Given the description of an element on the screen output the (x, y) to click on. 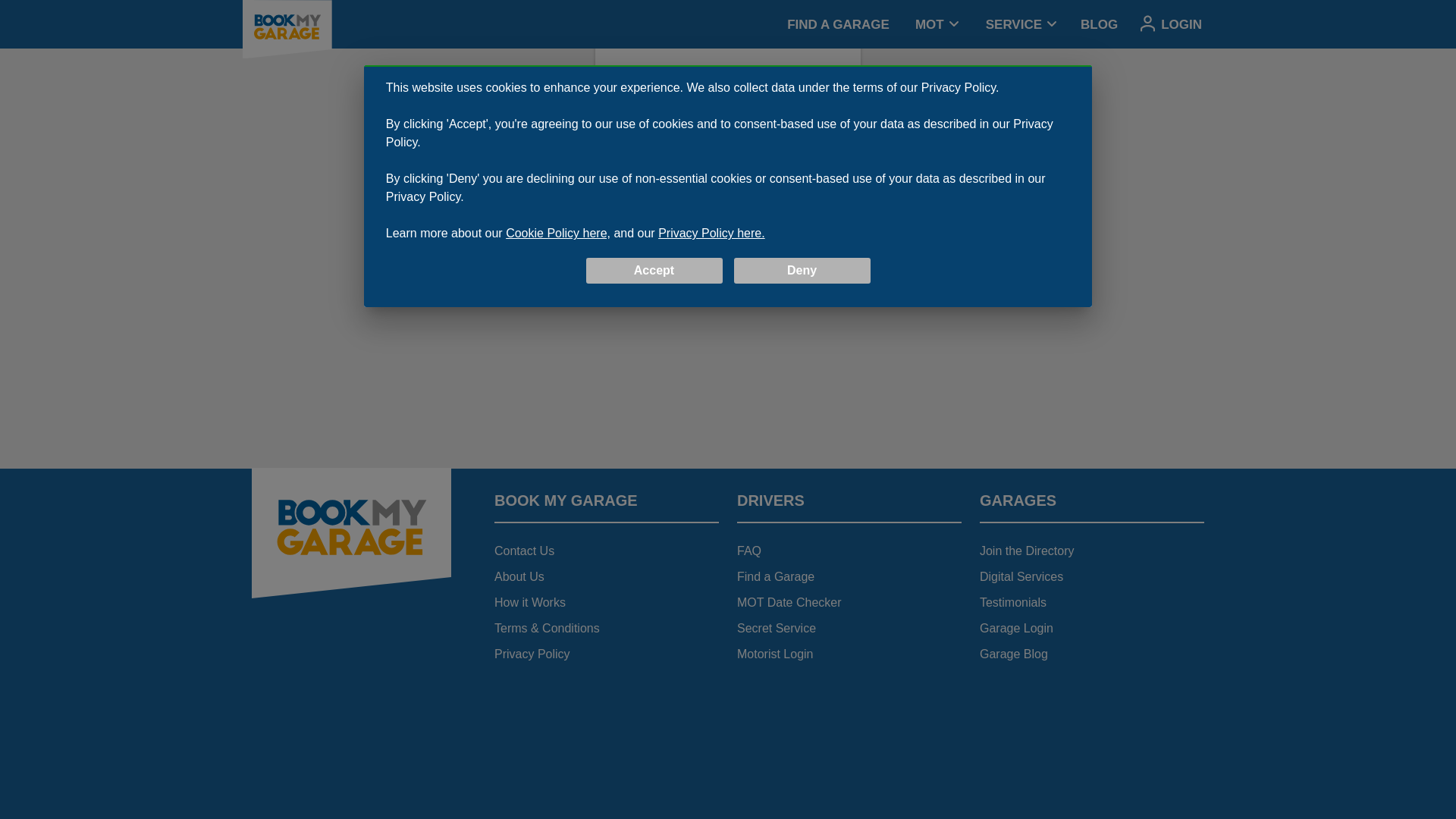
BookMyGarage (351, 610)
Learn more about our cookie policy (557, 72)
Learn more about our privacy policy (711, 72)
